Given the description of an element on the screen output the (x, y) to click on. 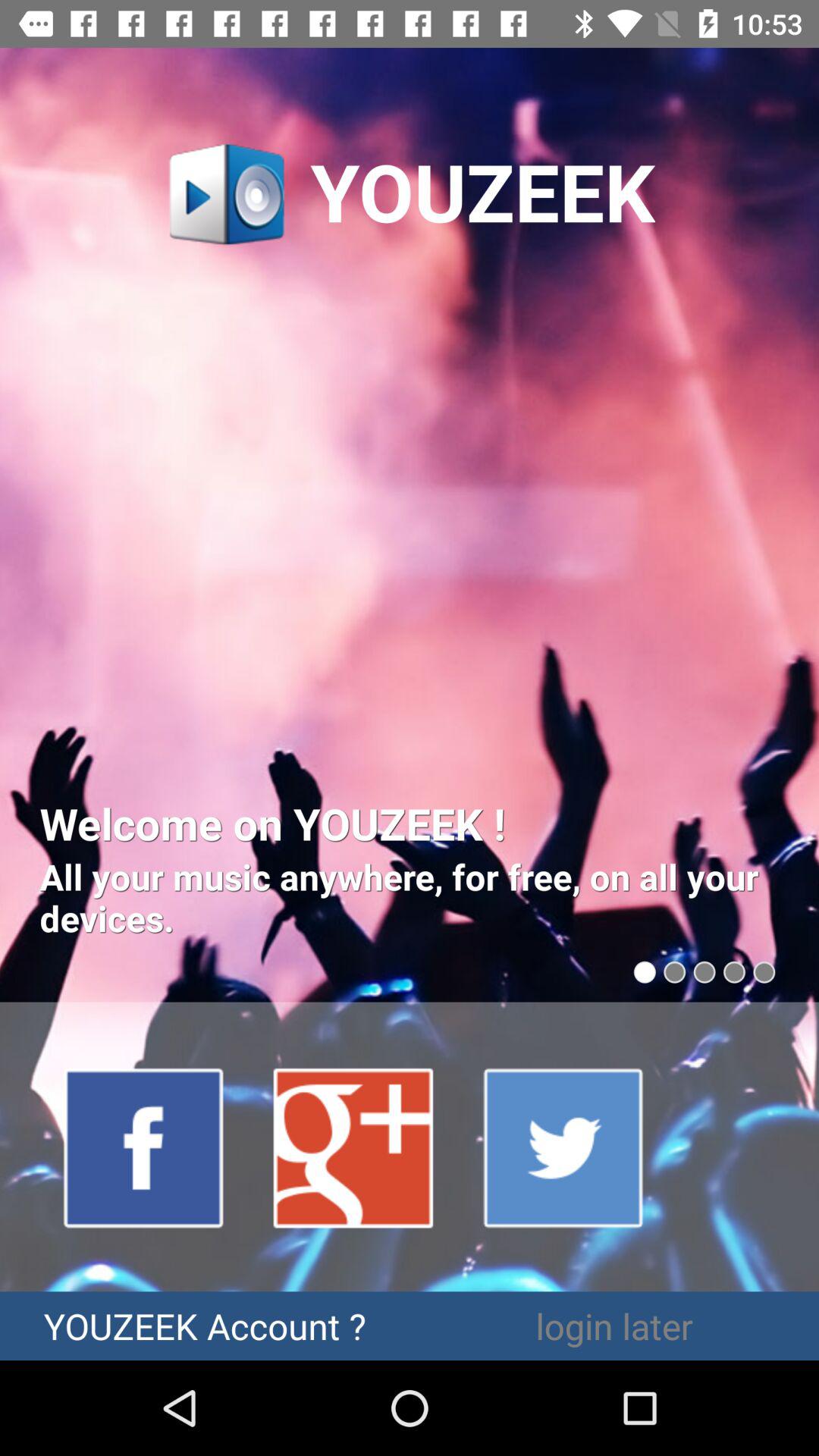
jump to login later icon (614, 1325)
